Given the description of an element on the screen output the (x, y) to click on. 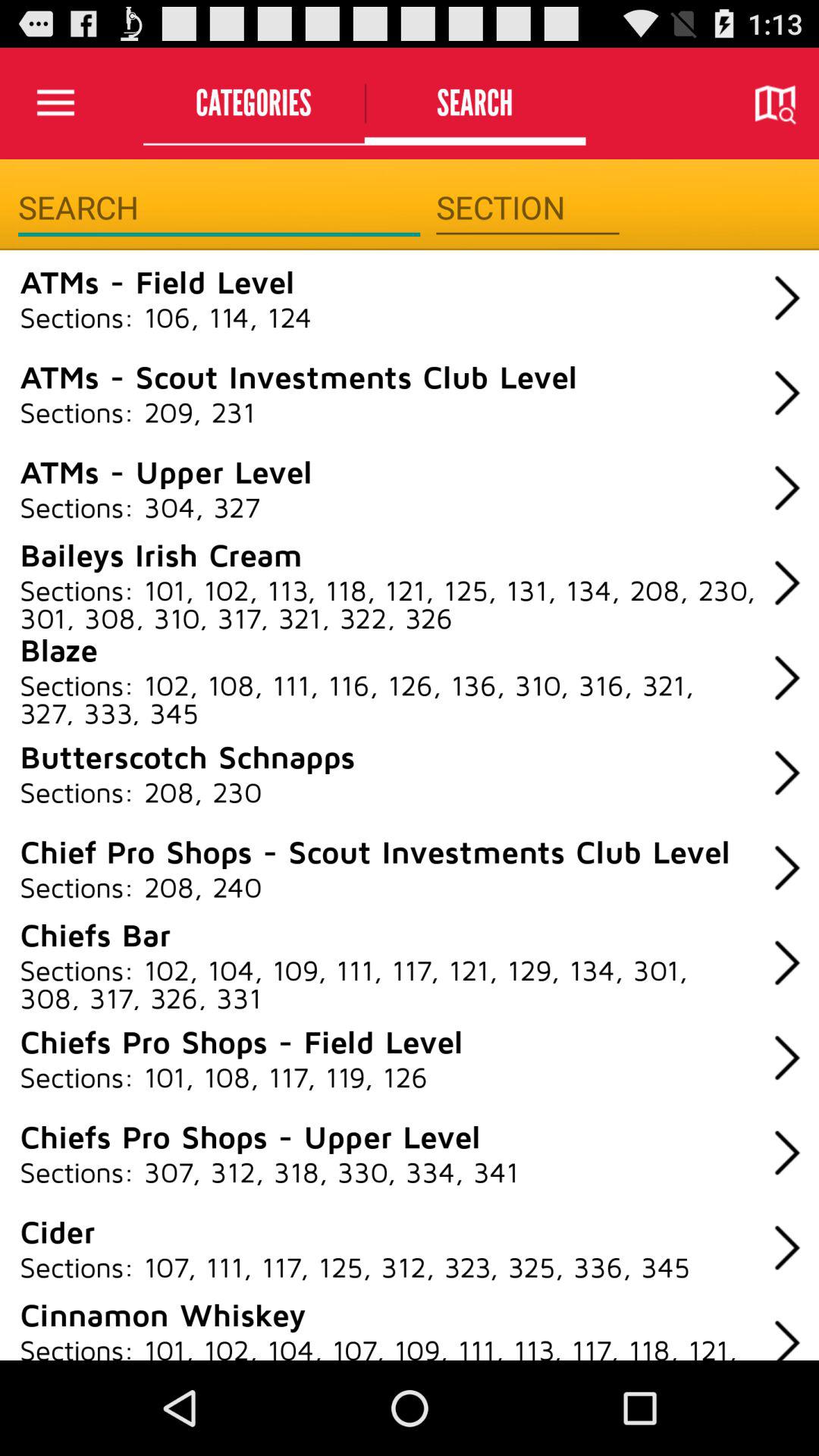
tap item below the sections 101 102 icon (58, 649)
